Given the description of an element on the screen output the (x, y) to click on. 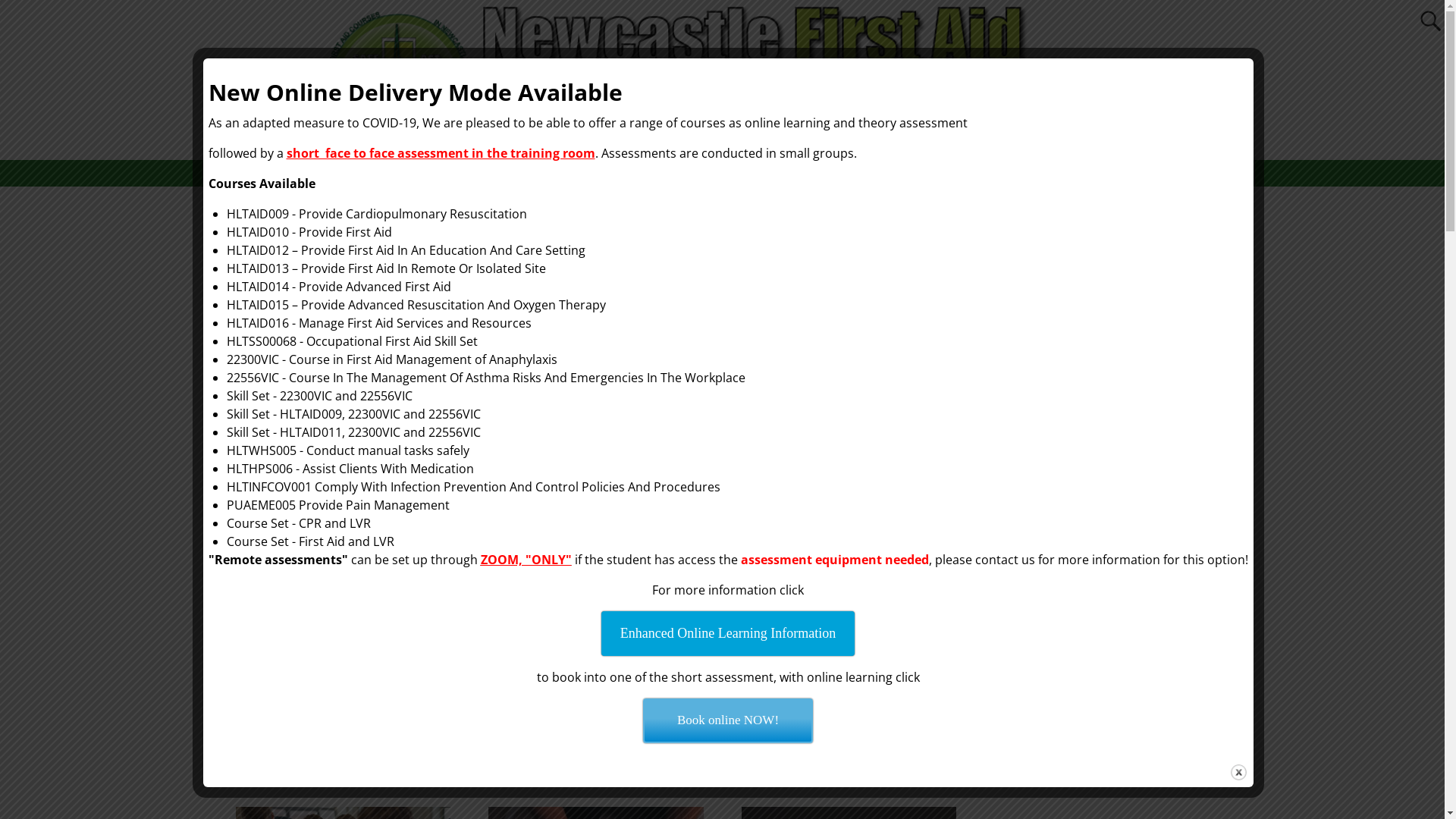
HLTAID012 Provide First Aid in an education and care setting Element type: text (1101, 467)
Book online NOW! Element type: text (727, 720)
Close Element type: hover (1237, 772)
Home Element type: text (517, 173)
Enhanced Online Learning Information Element type: text (727, 633)
First Aid Courses Element type: text (762, 173)
Course Dates Element type: text (656, 173)
Store Element type: text (938, 173)
Online-Portal Element type: text (868, 173)
About Us Element type: text (576, 173)
